Given the description of an element on the screen output the (x, y) to click on. 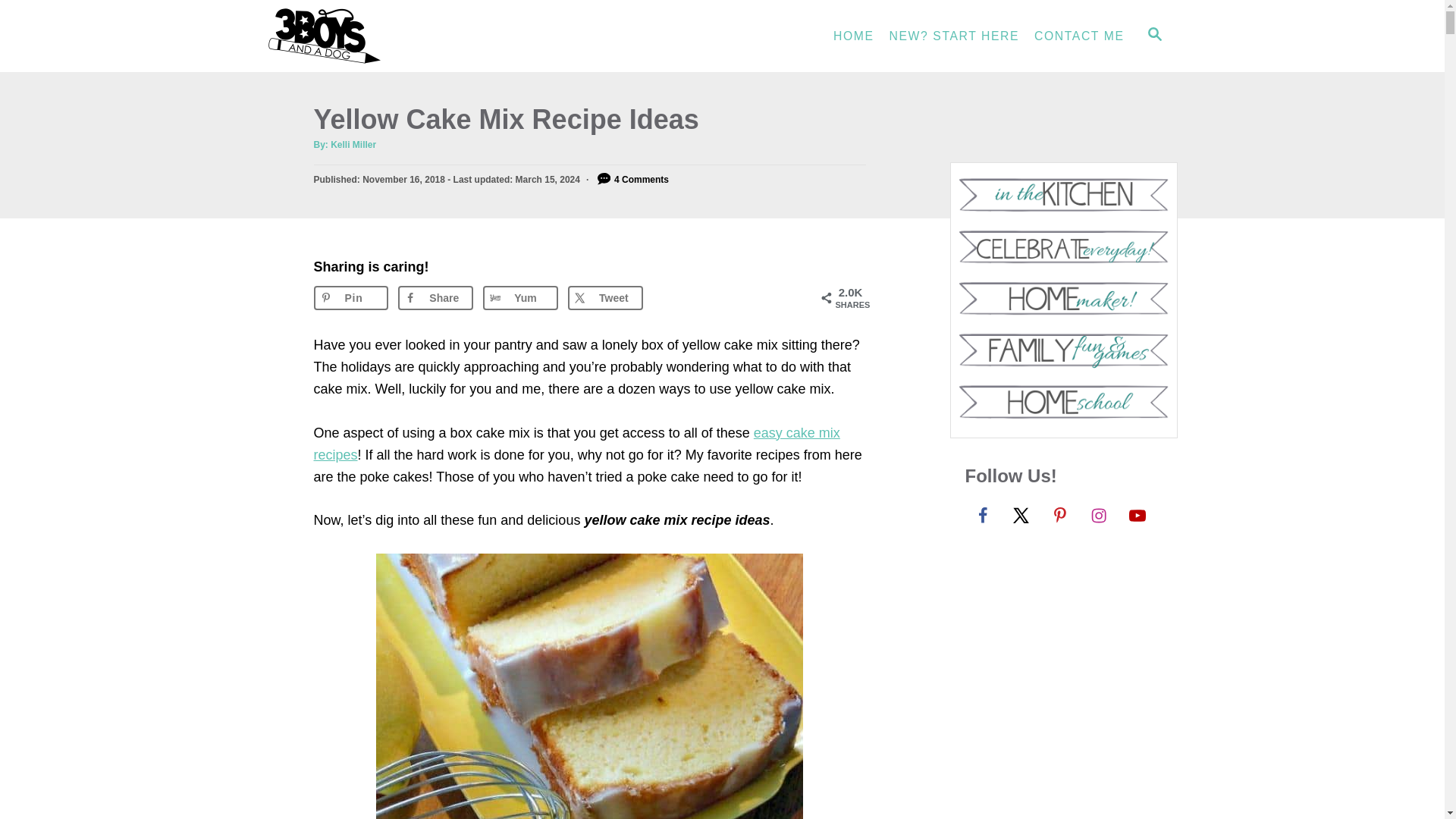
NEW? START HERE (954, 36)
3 Boys and a Dog (403, 36)
easy cake mix recipes (577, 443)
Share on Facebook (435, 297)
Share on Yummly (520, 297)
Save to Pinterest (351, 297)
Yum (520, 297)
Kelli Miller (352, 144)
SEARCH (1153, 35)
Tweet (605, 297)
HOME (853, 36)
Share (435, 297)
Pin (351, 297)
CONTACT ME (1078, 36)
Share on X (605, 297)
